Given the description of an element on the screen output the (x, y) to click on. 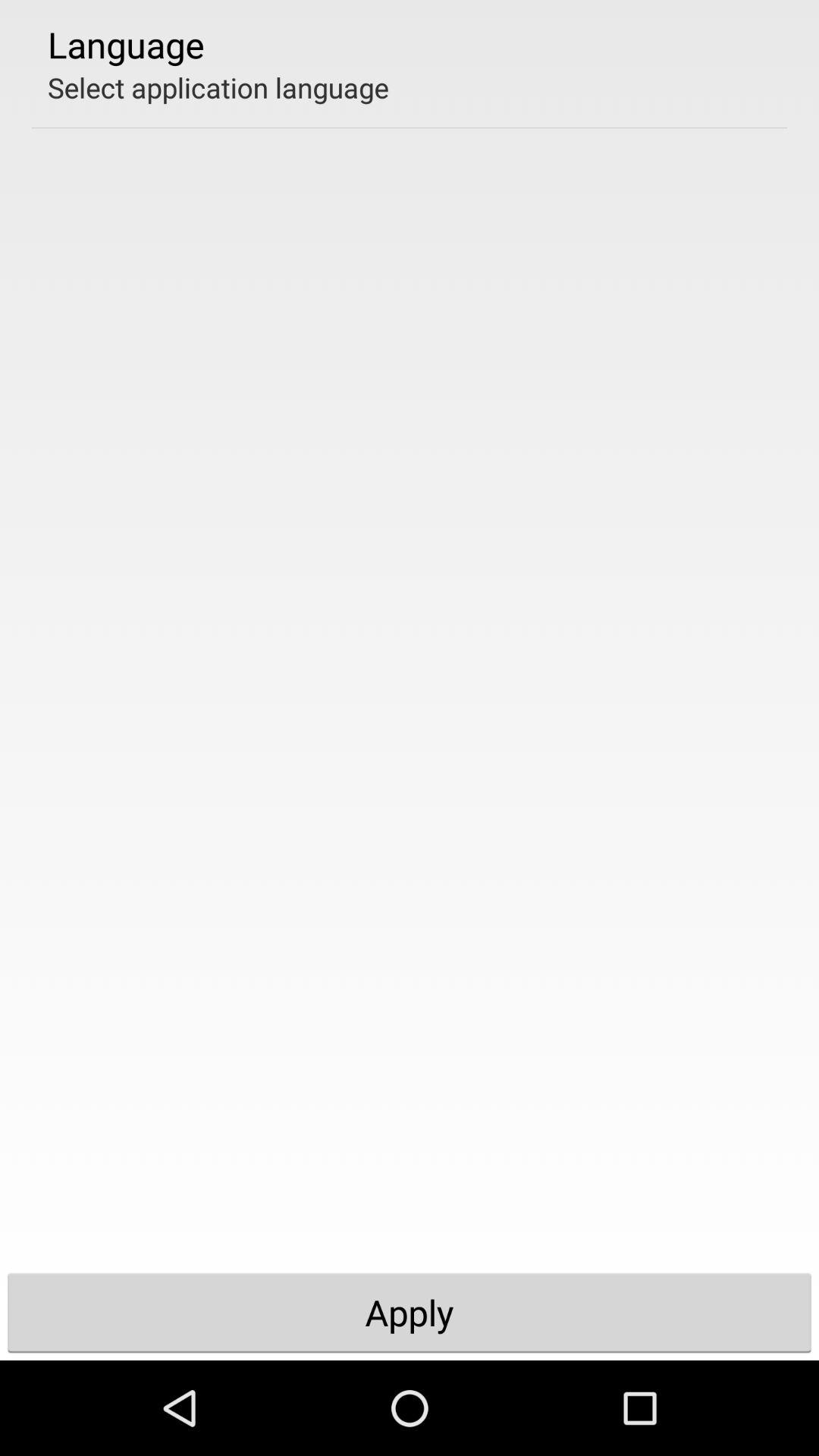
scroll until apply button (409, 1312)
